Given the description of an element on the screen output the (x, y) to click on. 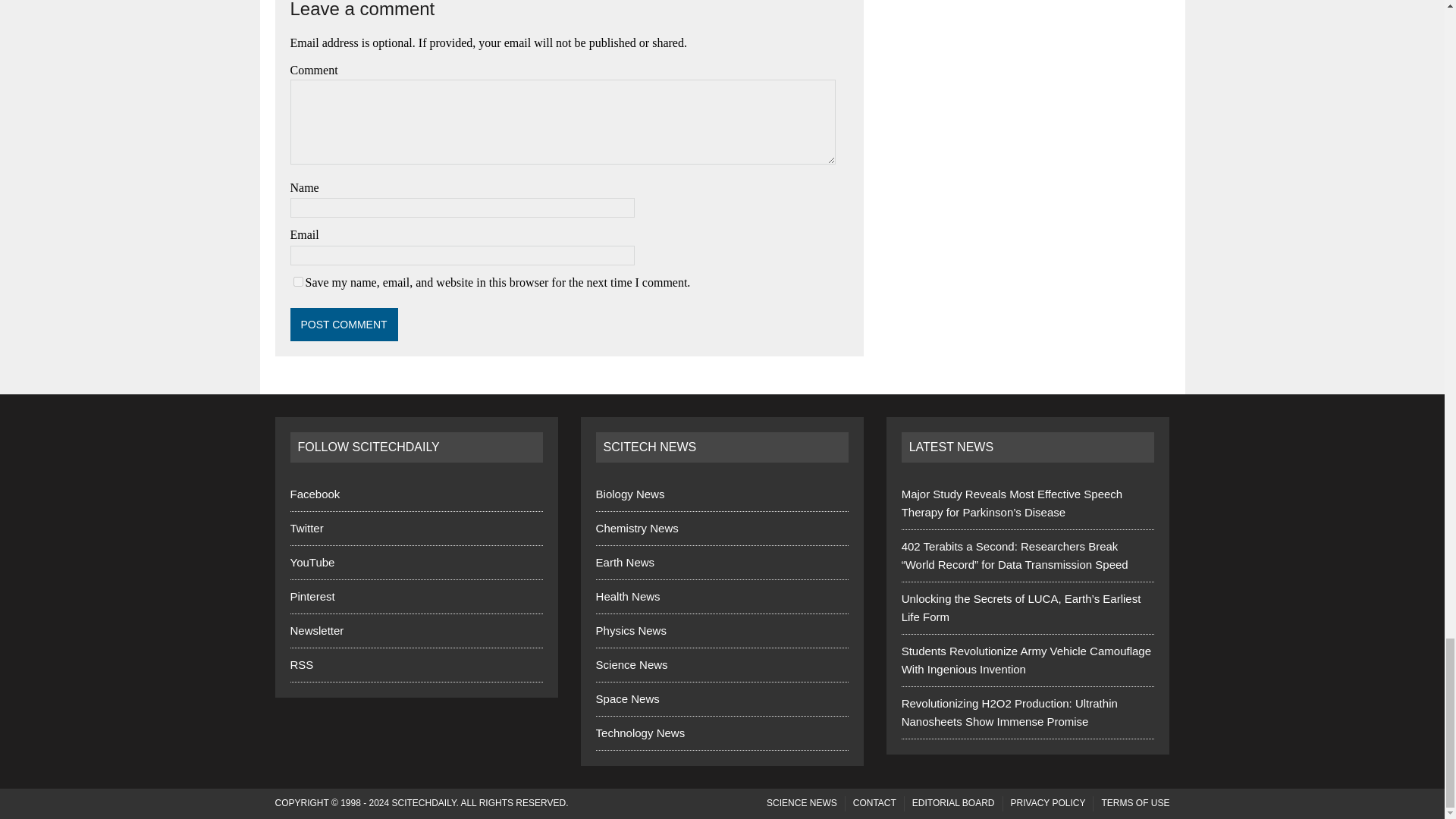
yes (297, 281)
Post Comment (343, 324)
